Given the description of an element on the screen output the (x, y) to click on. 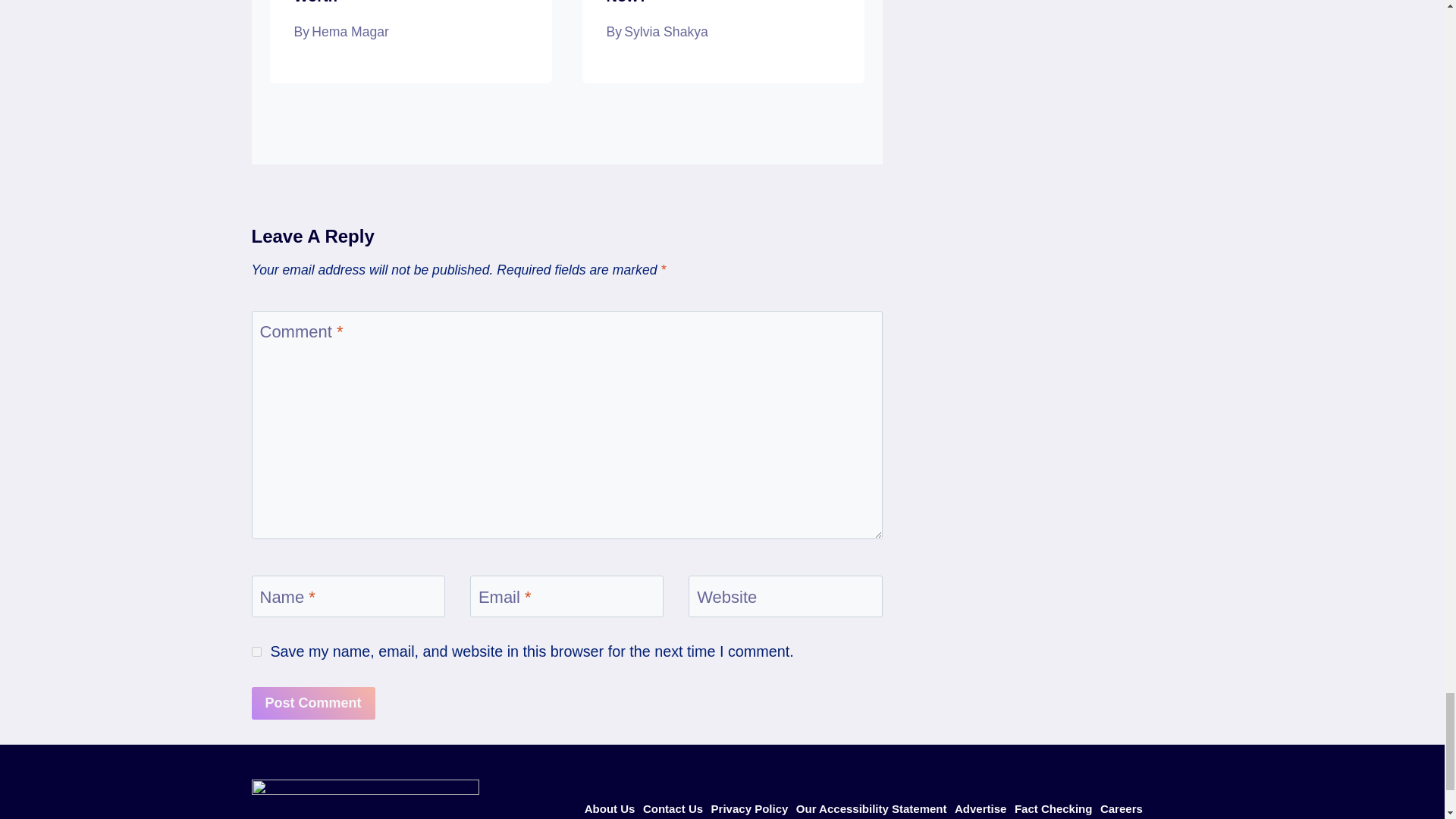
Post Comment (313, 703)
yes (256, 651)
